Given the description of an element on the screen output the (x, y) to click on. 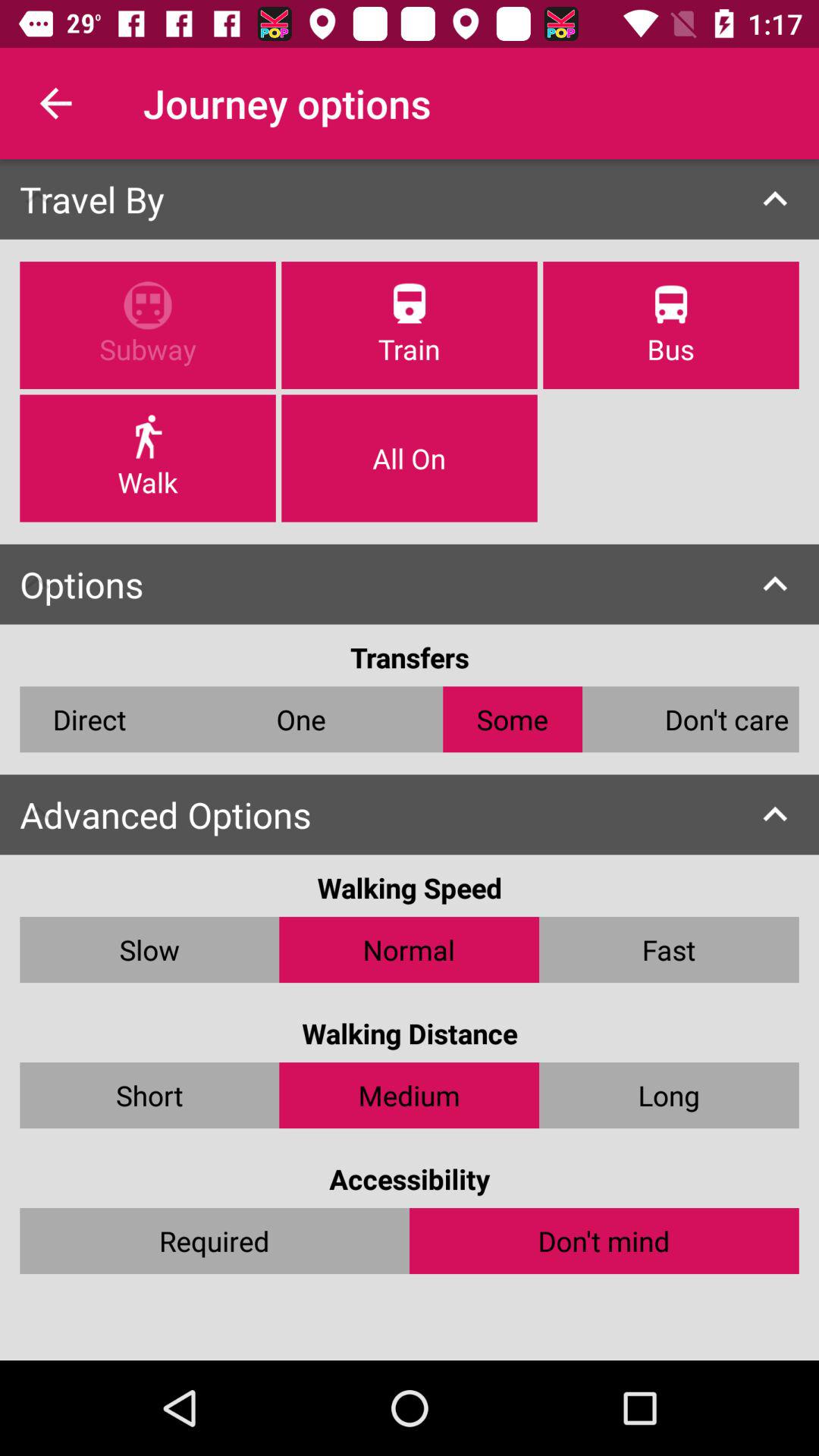
open medium item (409, 1095)
